Given the description of an element on the screen output the (x, y) to click on. 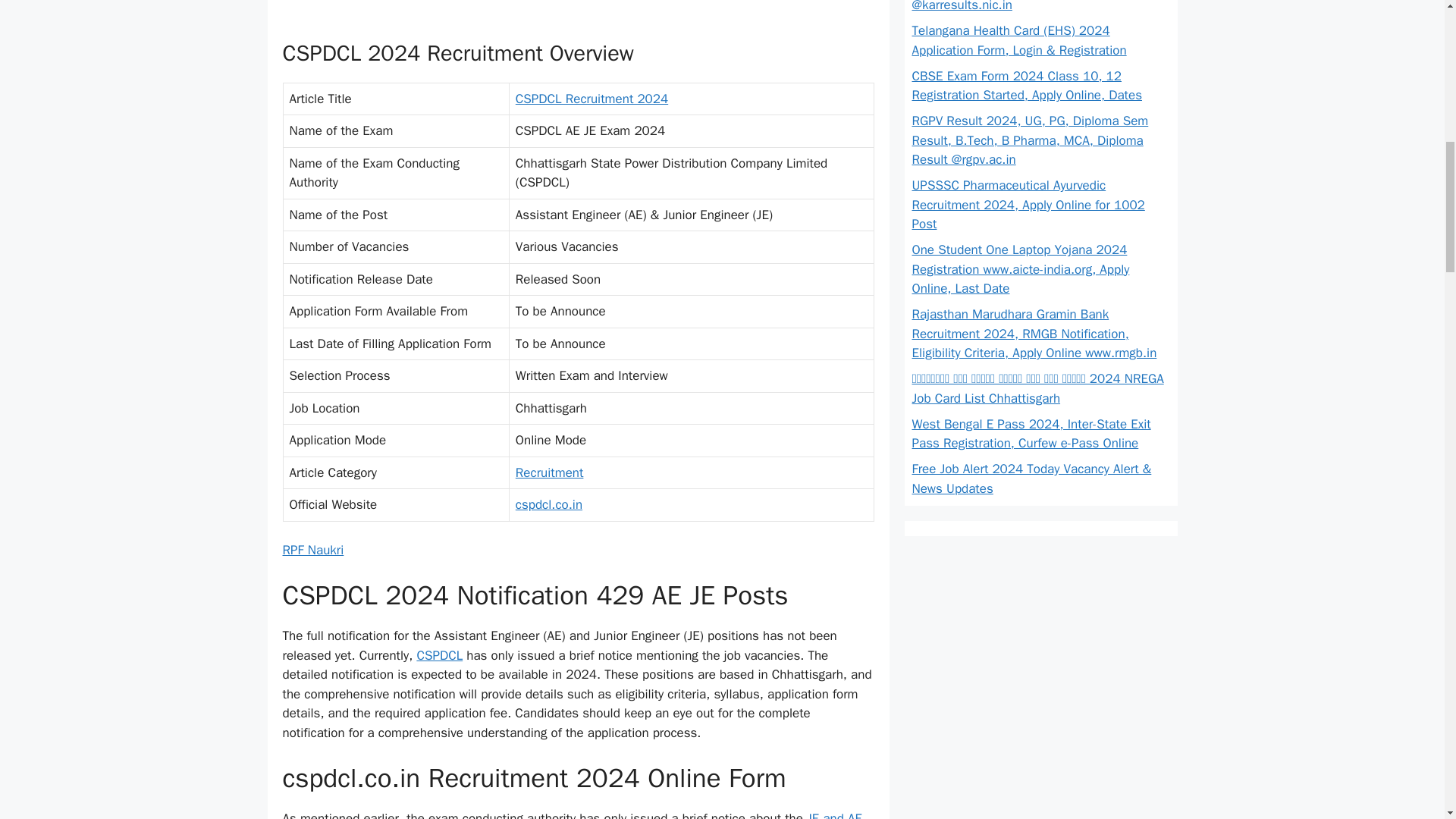
CSPDCL Recruitment 2024 (591, 98)
JE and AE post vacancies (571, 814)
RPF Naukri (312, 549)
Recruitment (549, 472)
cspdcl.co.in (548, 504)
CSPDCL (439, 655)
